Given the description of an element on the screen output the (x, y) to click on. 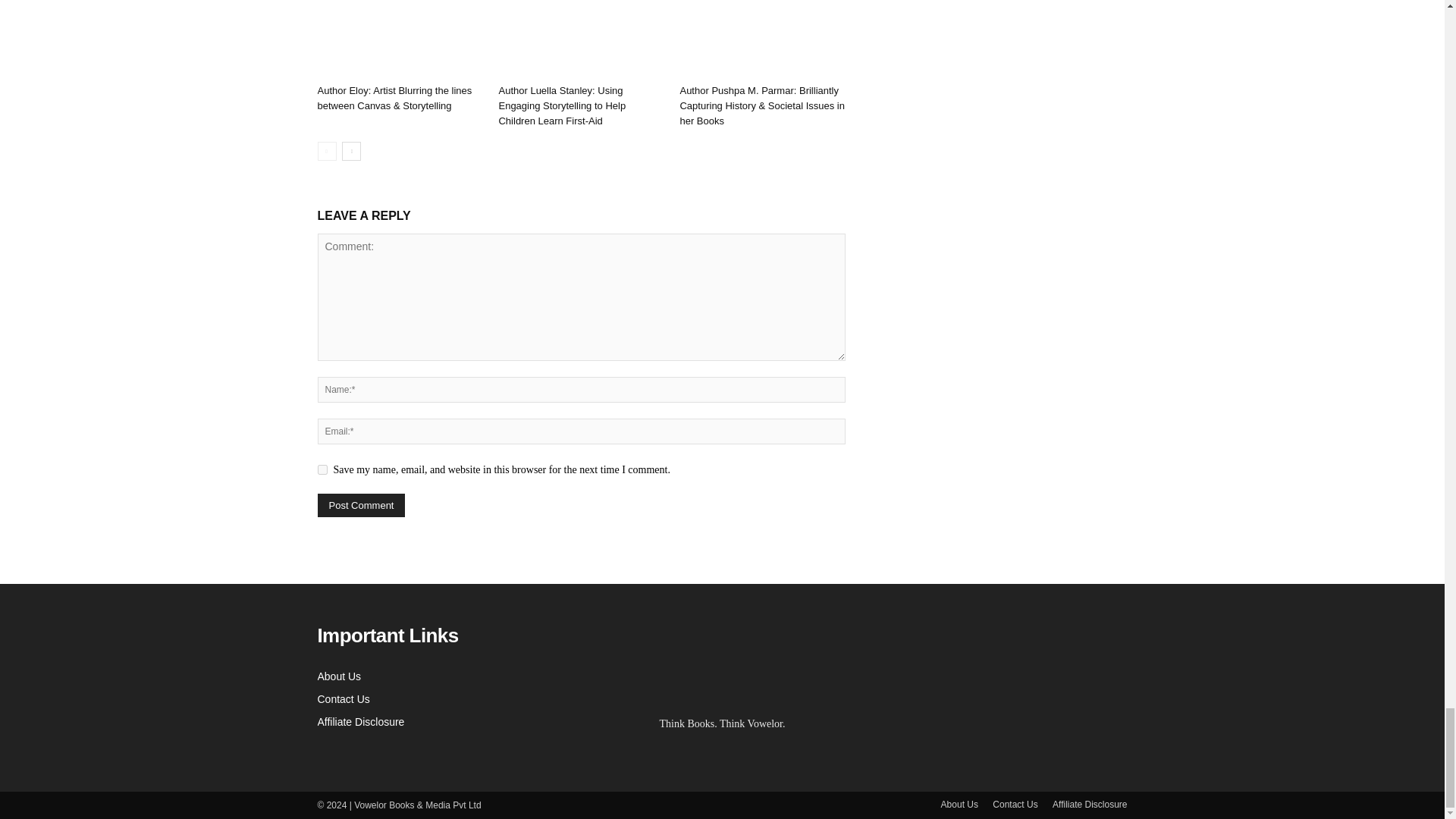
yes (321, 470)
Post Comment (360, 504)
